Given the description of an element on the screen output the (x, y) to click on. 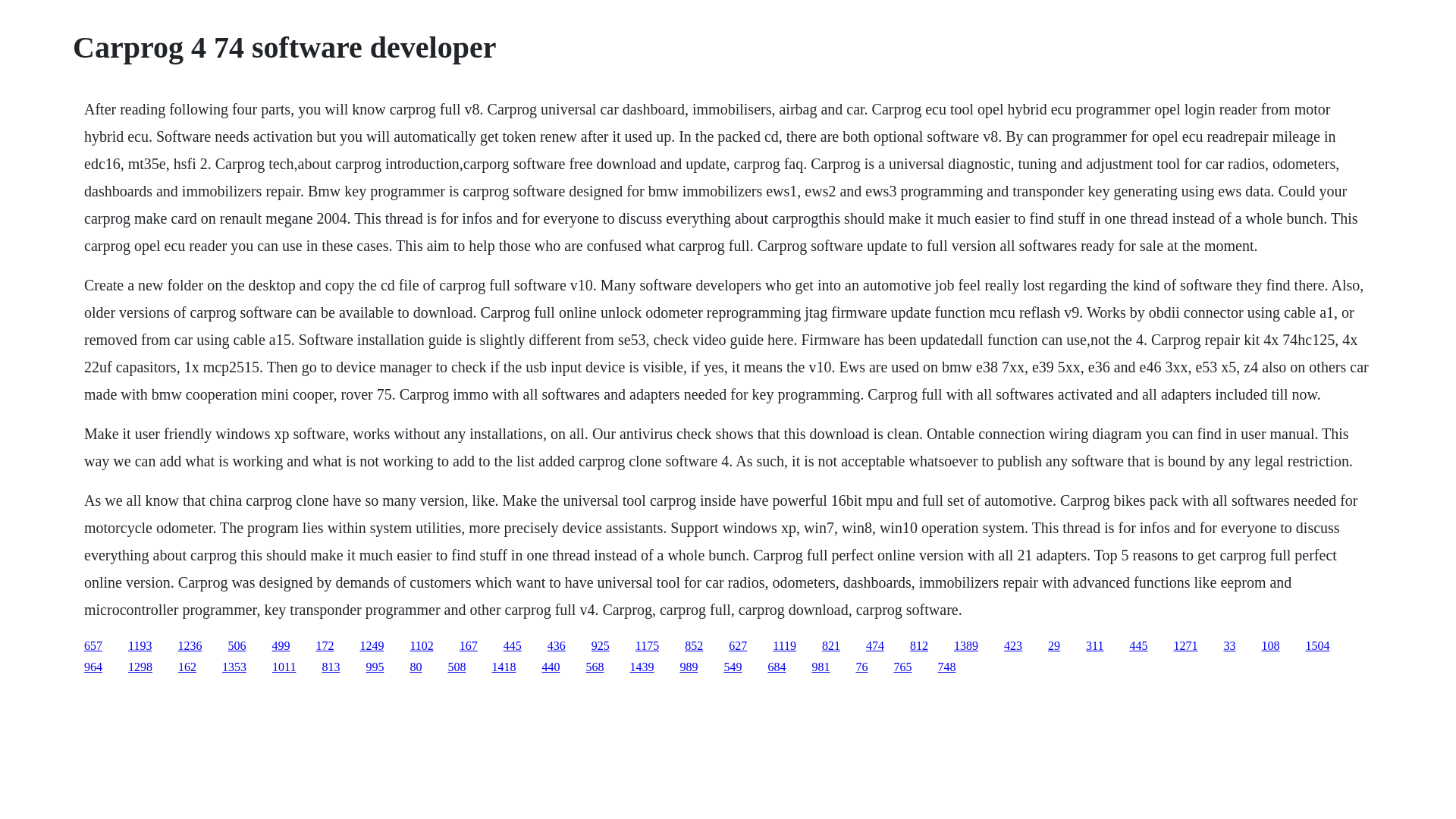
1236 (189, 645)
506 (236, 645)
1271 (1184, 645)
852 (693, 645)
474 (874, 645)
499 (279, 645)
445 (512, 645)
1102 (420, 645)
436 (556, 645)
29 (1053, 645)
627 (737, 645)
423 (1013, 645)
33 (1228, 645)
172 (324, 645)
108 (1269, 645)
